Given the description of an element on the screen output the (x, y) to click on. 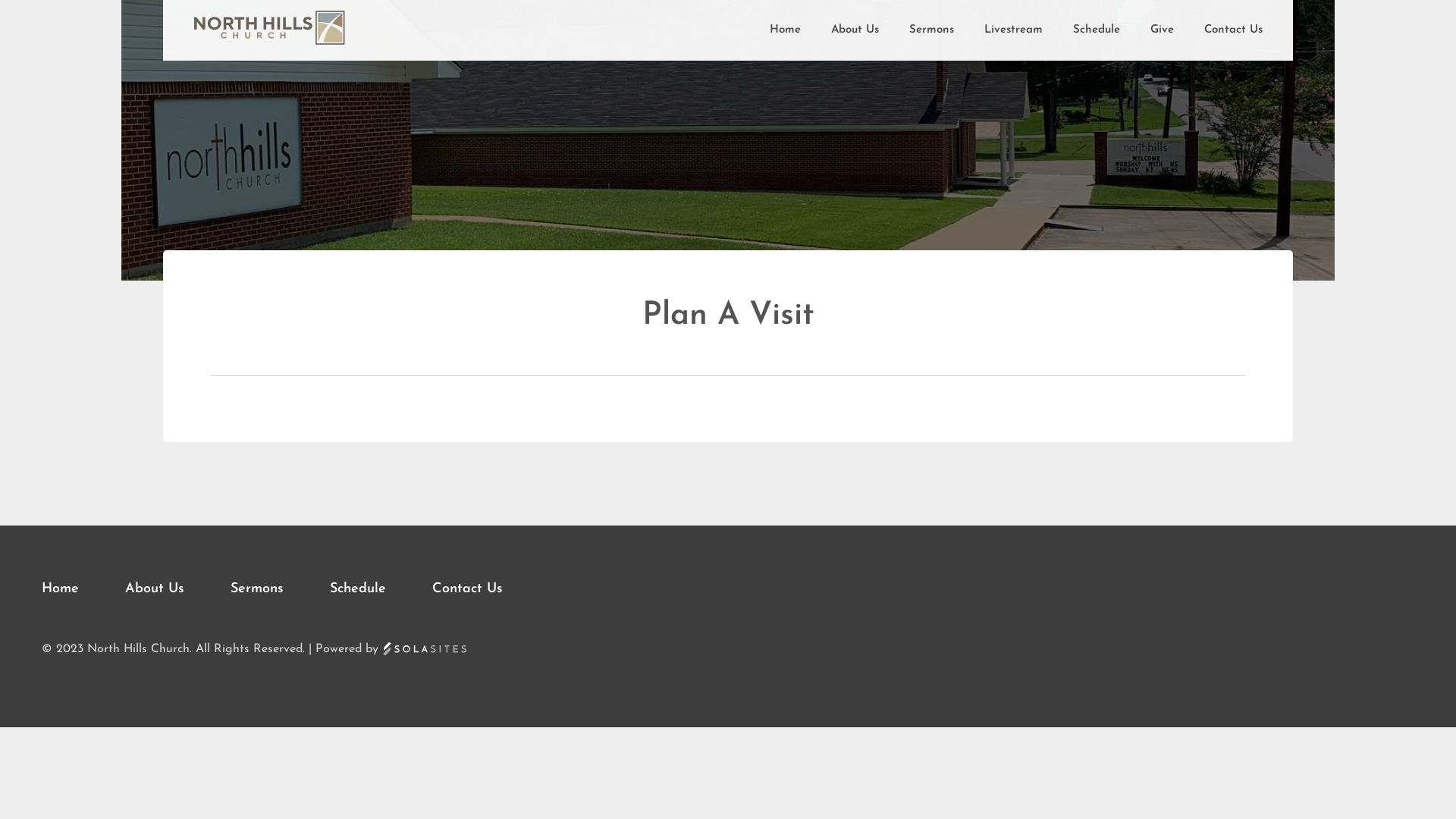
Schedule Element type: text (1096, 30)
Sermons Element type: text (931, 30)
Contact Us Element type: text (467, 588)
About Us Element type: text (854, 30)
Sermons Element type: text (278, 588)
Schedule Element type: text (378, 588)
Give Element type: text (1161, 30)
About Us Element type: text (175, 588)
Home Element type: text (784, 30)
Livestream Element type: text (1013, 30)
Contact Us Element type: text (1233, 30)
Home Element type: text (81, 588)
